Given the description of an element on the screen output the (x, y) to click on. 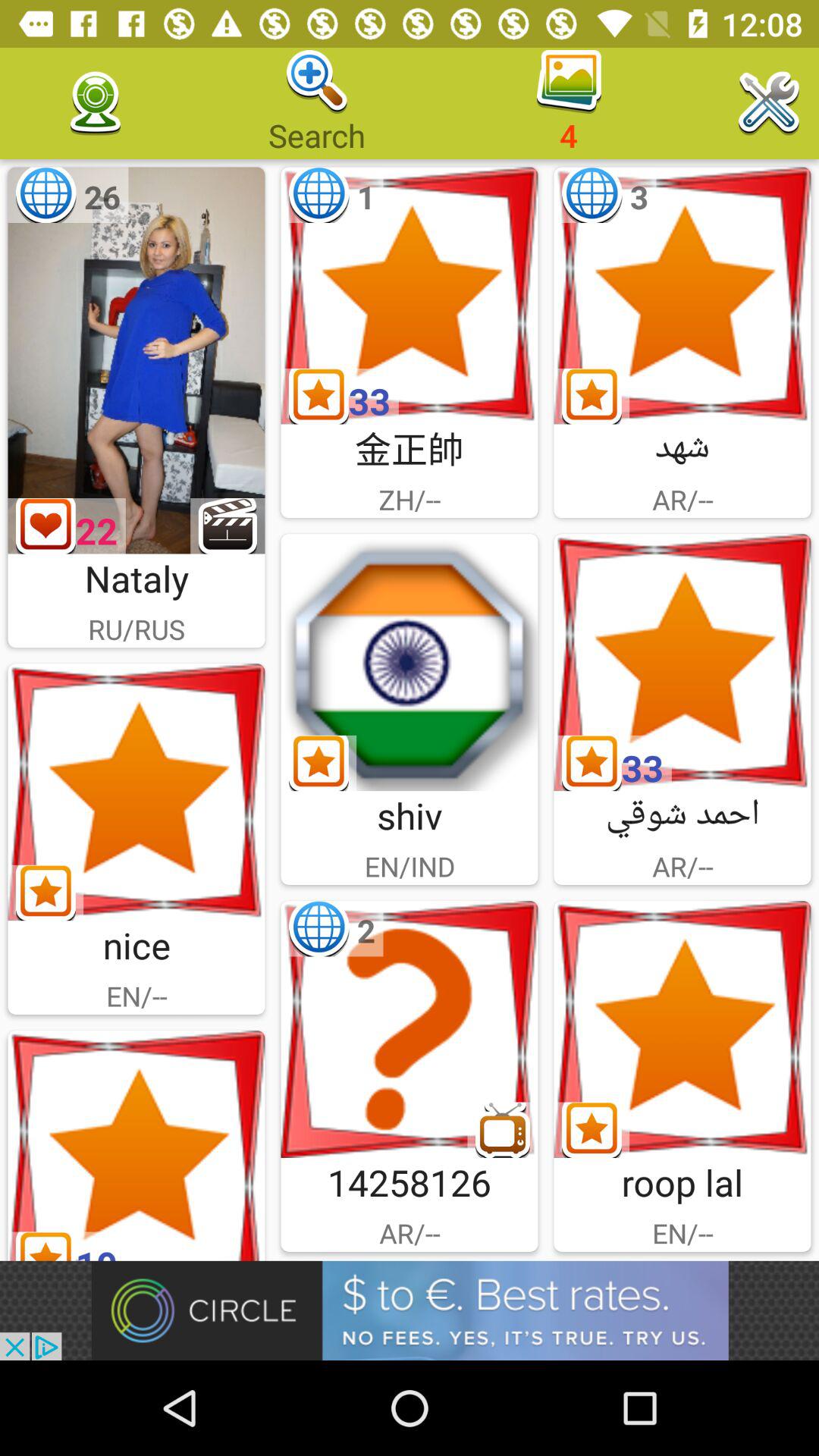
click on advertisement (409, 1310)
